Given the description of an element on the screen output the (x, y) to click on. 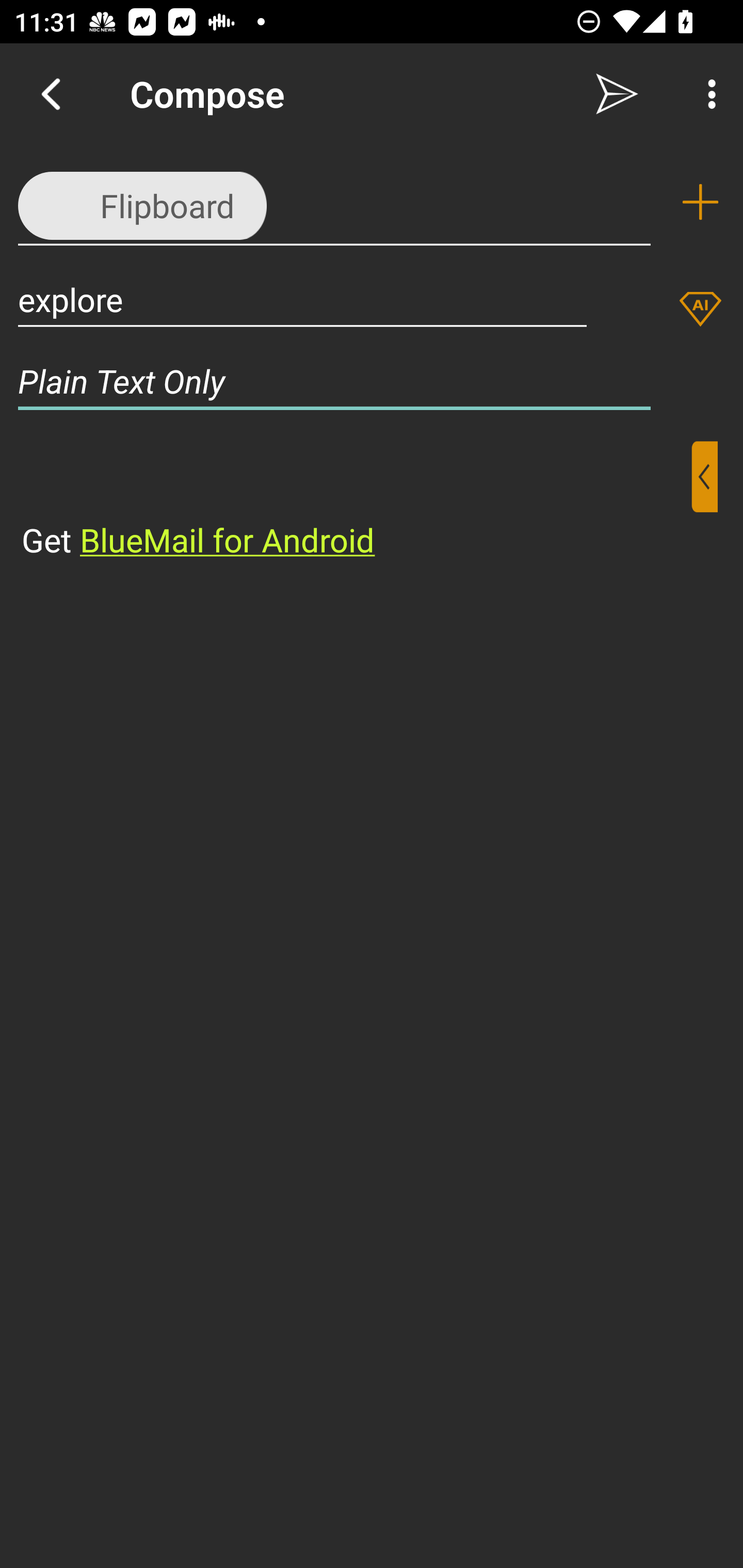
Navigate up (50, 93)
Send (616, 93)
More Options (706, 93)
Flipboard <editorialstaff@flipboard.com>,  (334, 201)
Add recipient (To) (699, 201)
explore (302, 299)
Plain Text Only (371, 380)


⁣Get BlueMail for Android ​ (355, 501)
